Given the description of an element on the screen output the (x, y) to click on. 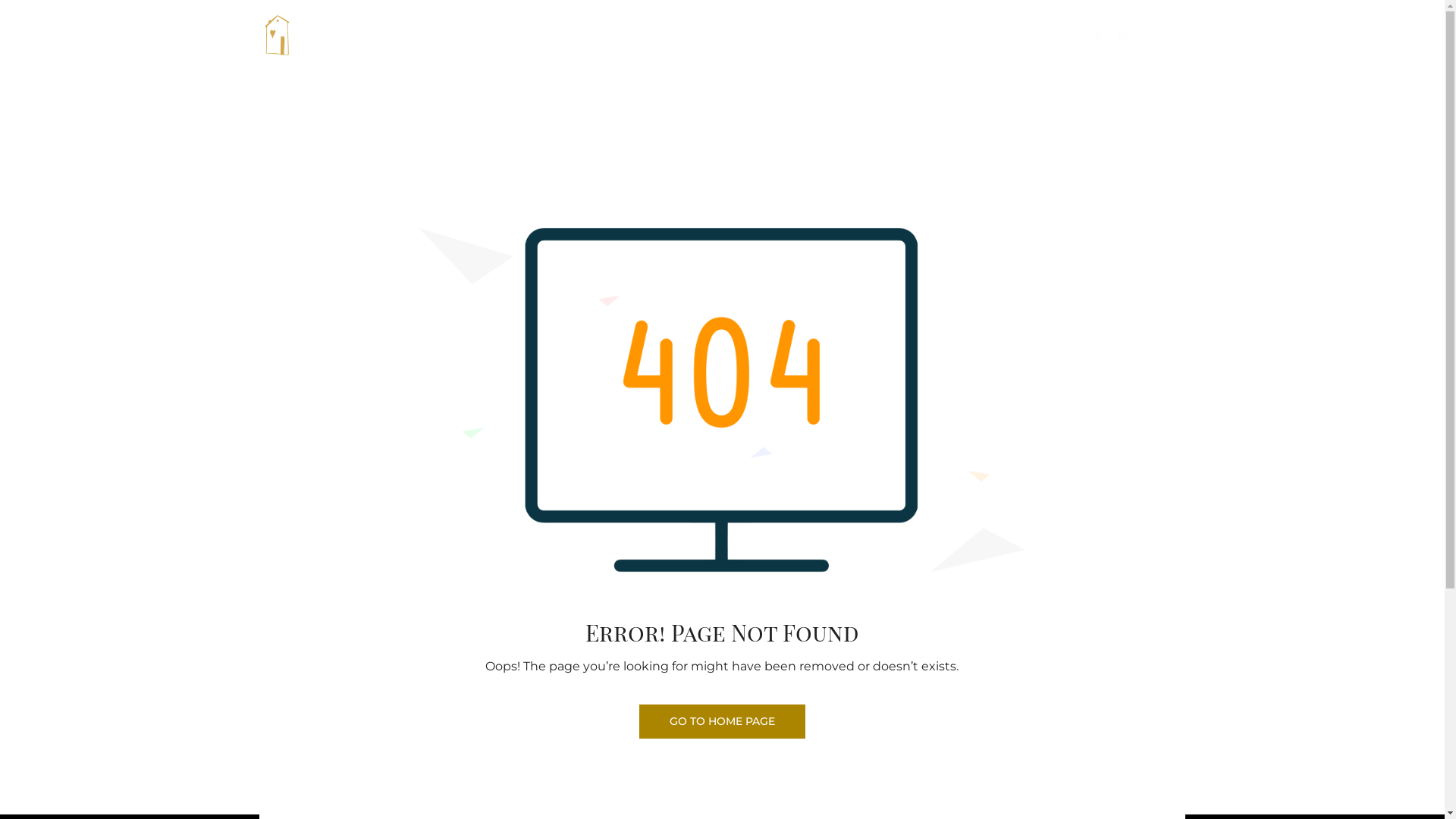
Contact Us Element type: text (805, 35)
404-not-found-error Element type: hover (721, 399)
GO TO HOME PAGE Element type: text (722, 721)
About Us Element type: text (520, 35)
Accommodation Element type: text (599, 35)
+61 408 917 767 Element type: text (905, 35)
Home Element type: text (467, 35)
